Given the description of an element on the screen output the (x, y) to click on. 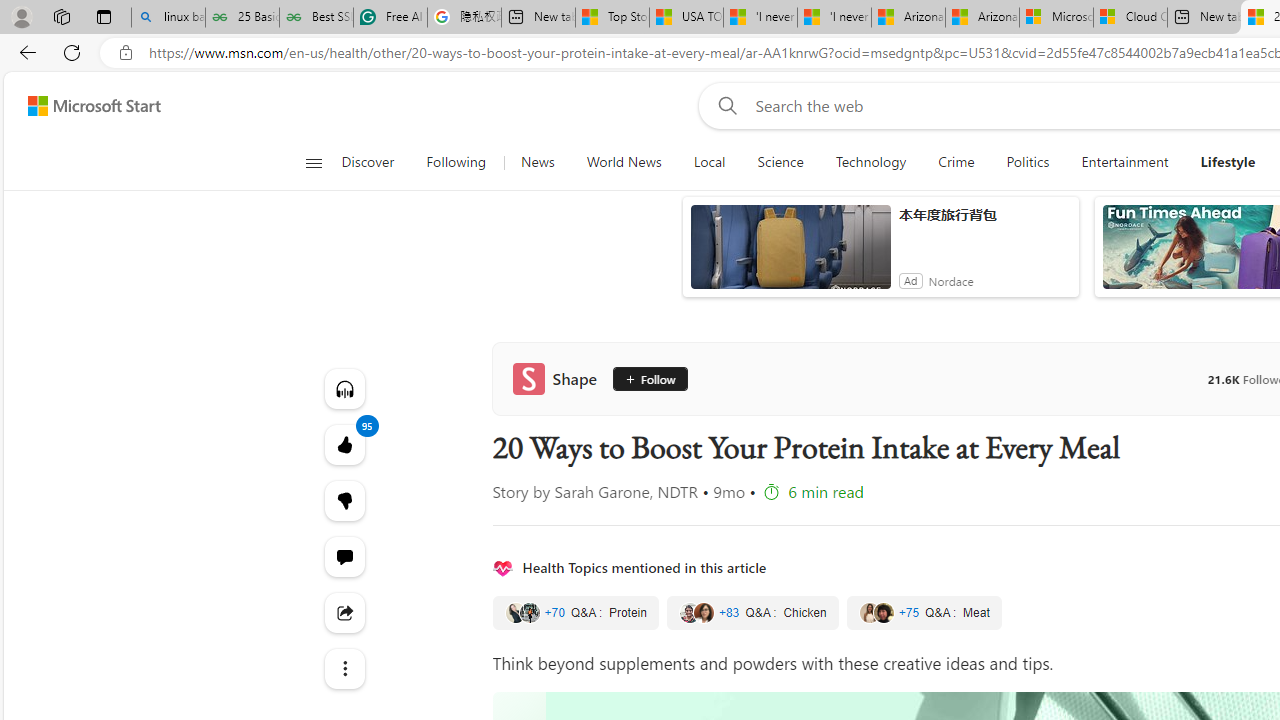
Follow (643, 378)
